Given the description of an element on the screen output the (x, y) to click on. 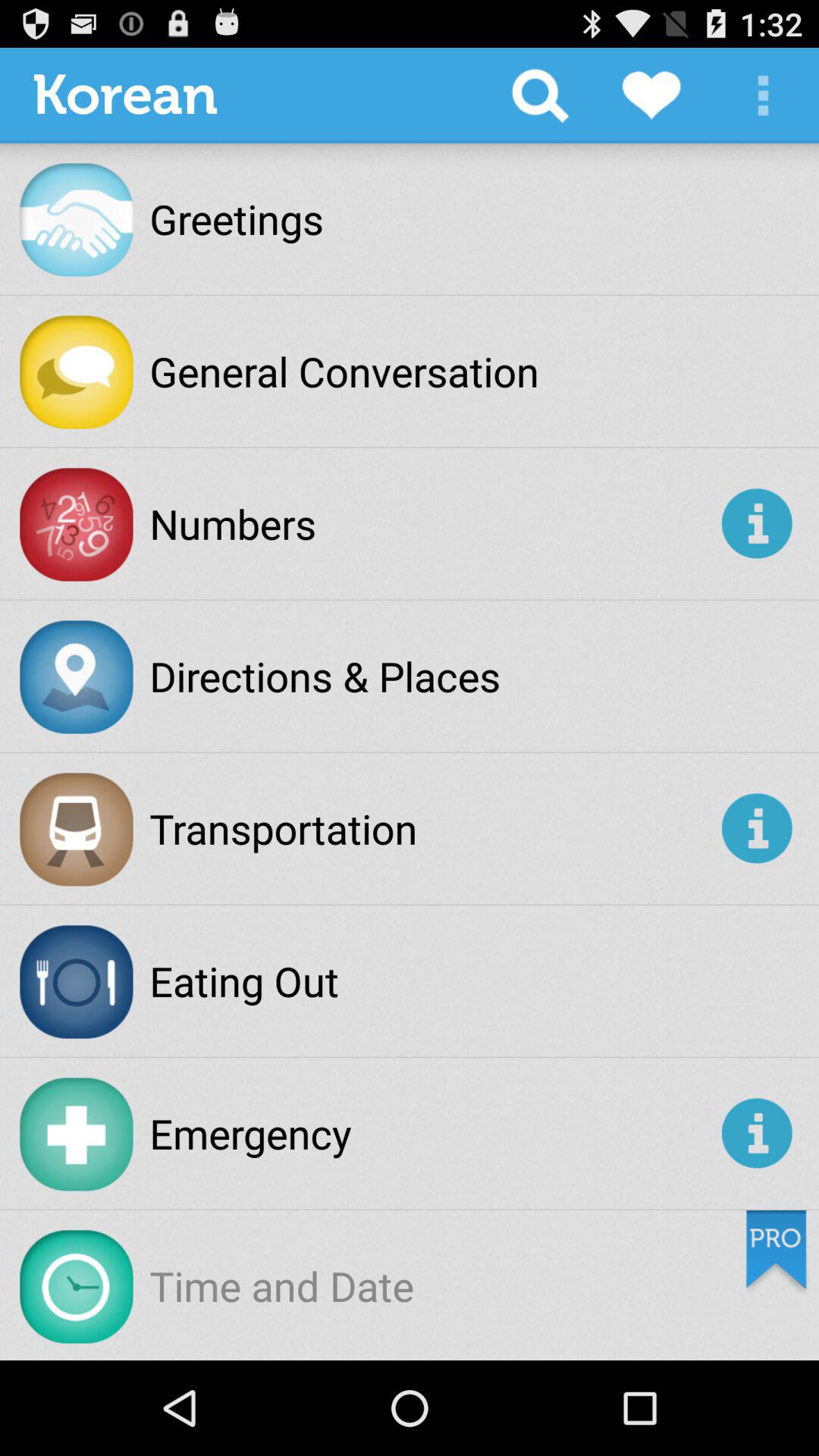
flip to the eating out icon (243, 980)
